Given the description of an element on the screen output the (x, y) to click on. 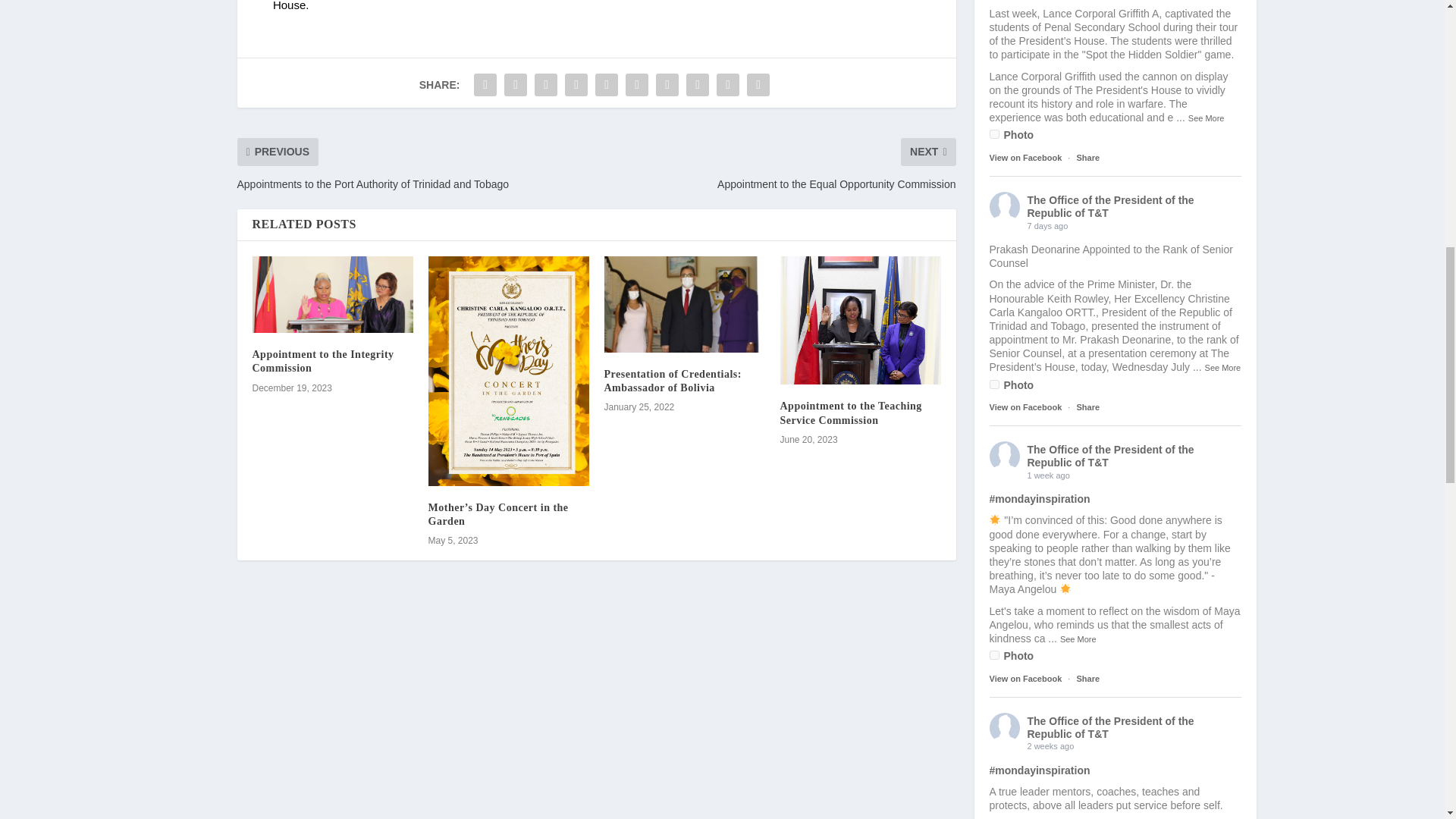
Appointment to the Teaching Service Commission (859, 320)
Appointment to the Integrity Commission (331, 294)
Presentation of Credentials: Ambassador of Bolivia (684, 304)
